Given the description of an element on the screen output the (x, y) to click on. 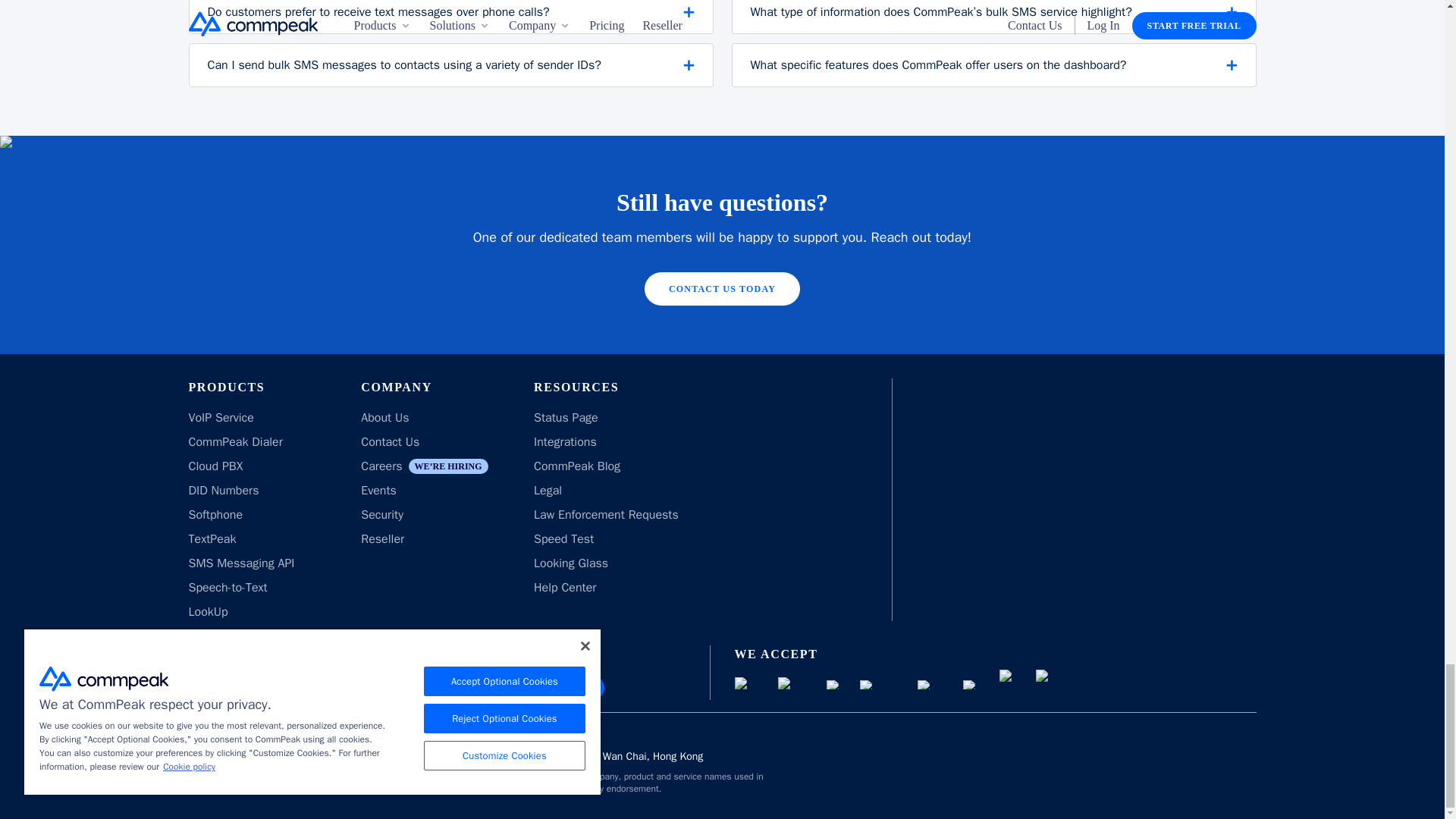
SMS Messaging API (240, 563)
VoIP Service (220, 417)
Softphone (215, 514)
CommPeak Dialer (234, 441)
Cloud PBX (215, 466)
DID Numbers (223, 490)
CONTACT US TODAY (722, 288)
TextPeak (211, 539)
